Given the description of an element on the screen output the (x, y) to click on. 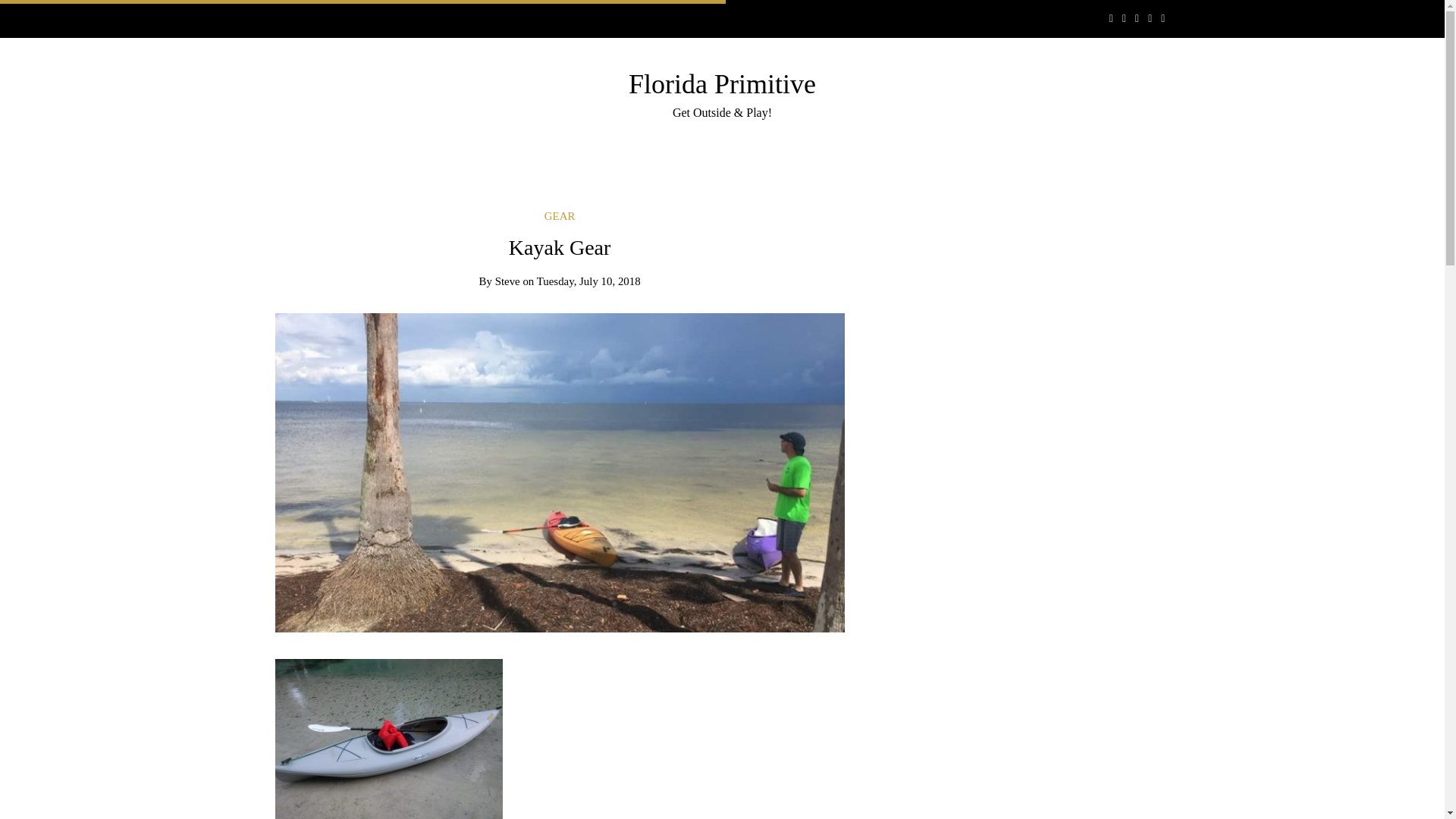
Tuesday, July 10, 2018 (588, 281)
Florida Primitive (721, 83)
Steve (507, 281)
Permalink to: "Kayak Gear" (559, 471)
Posts by Steve (507, 281)
GEAR (559, 215)
